Given the description of an element on the screen output the (x, y) to click on. 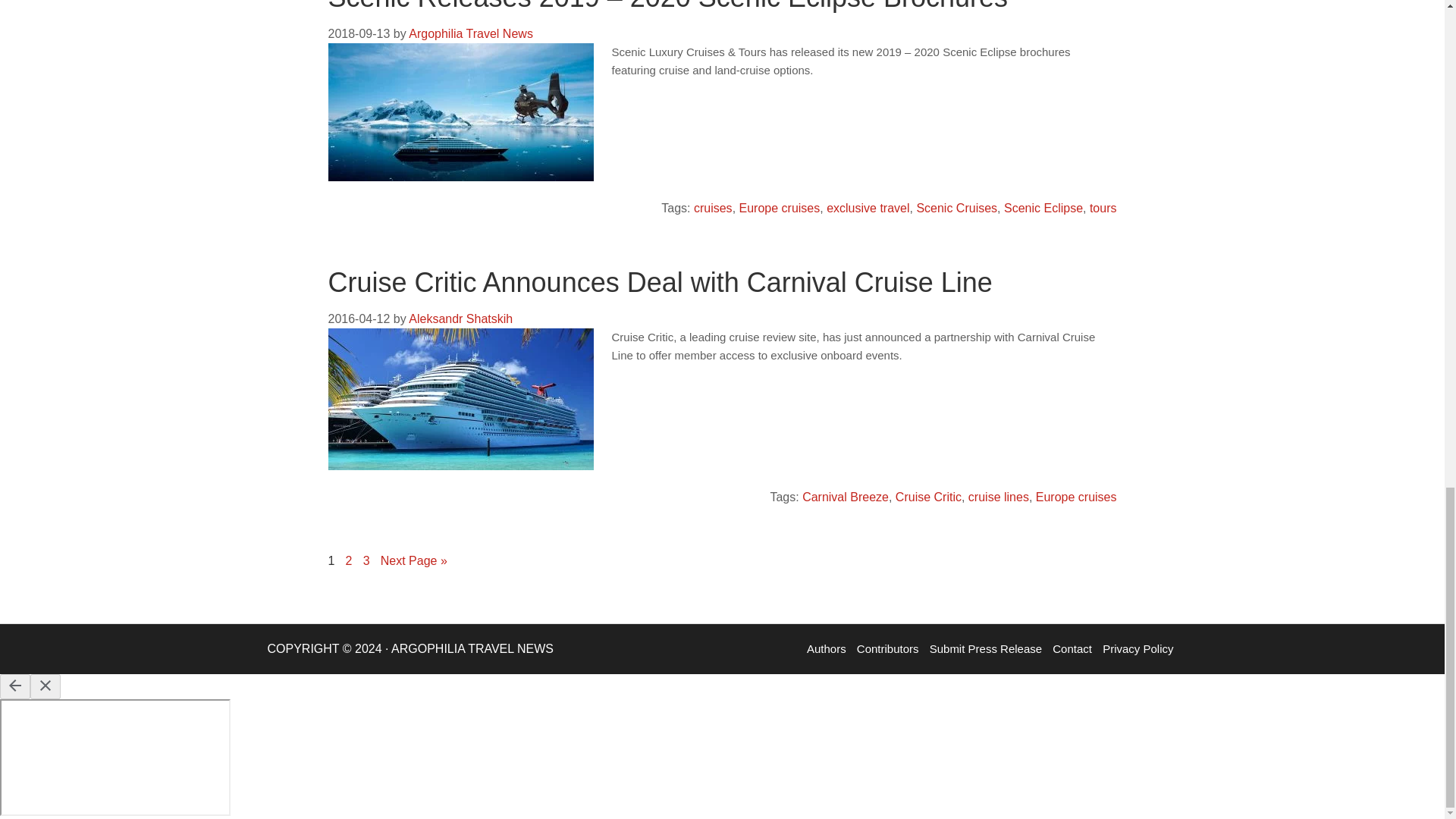
Authors (826, 648)
